Given the description of an element on the screen output the (x, y) to click on. 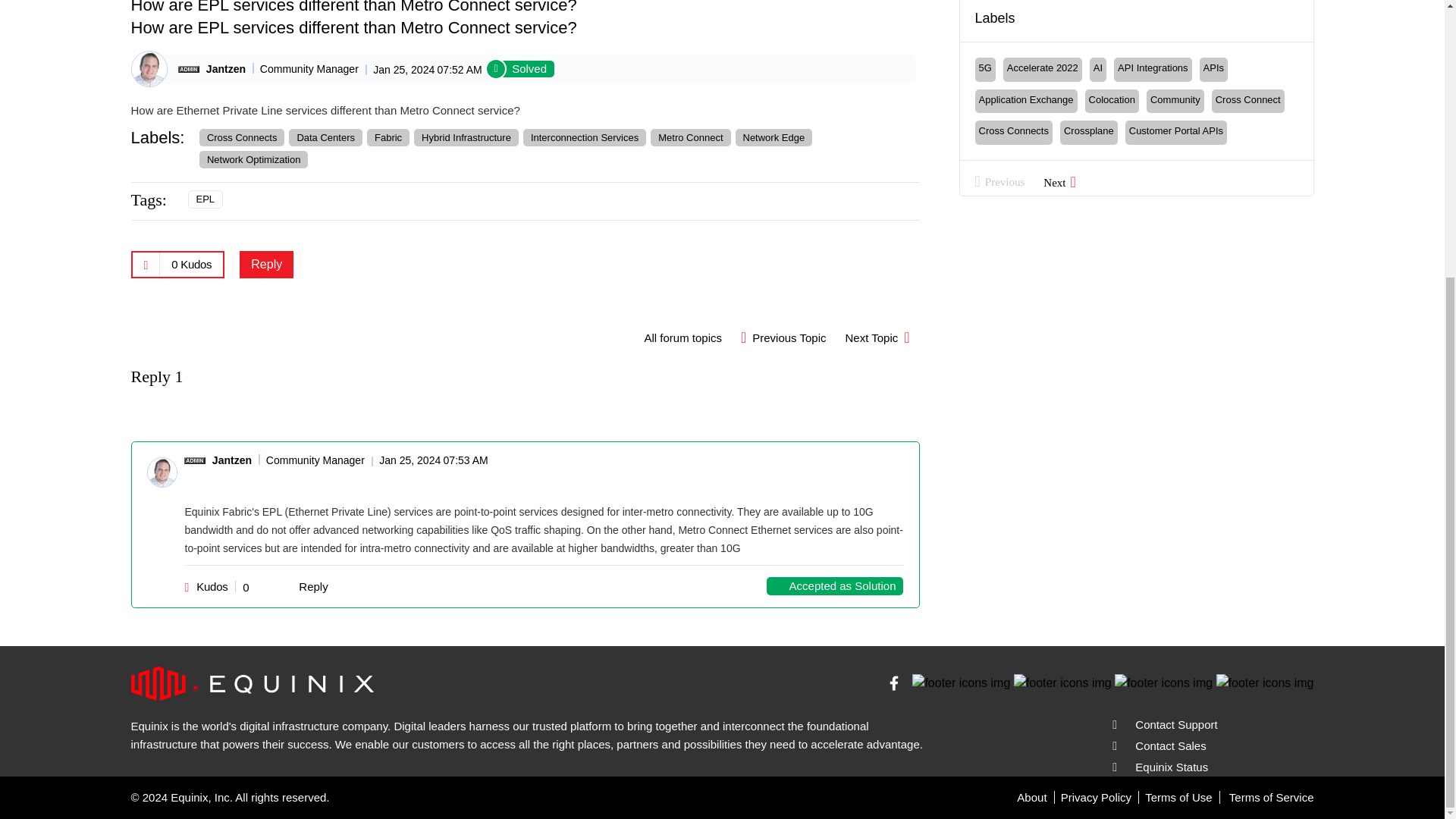
The total number of kudos this post has received. (191, 264)
Data Centers (325, 137)
Jantzen (149, 68)
Posted on (421, 68)
Cross Connects (241, 137)
Fabric (387, 137)
Community Manager (188, 69)
Solved (521, 68)
Jantzen (226, 69)
Hybrid Infrastructure (465, 137)
Click here to give kudos to this post. (146, 264)
